Given the description of an element on the screen output the (x, y) to click on. 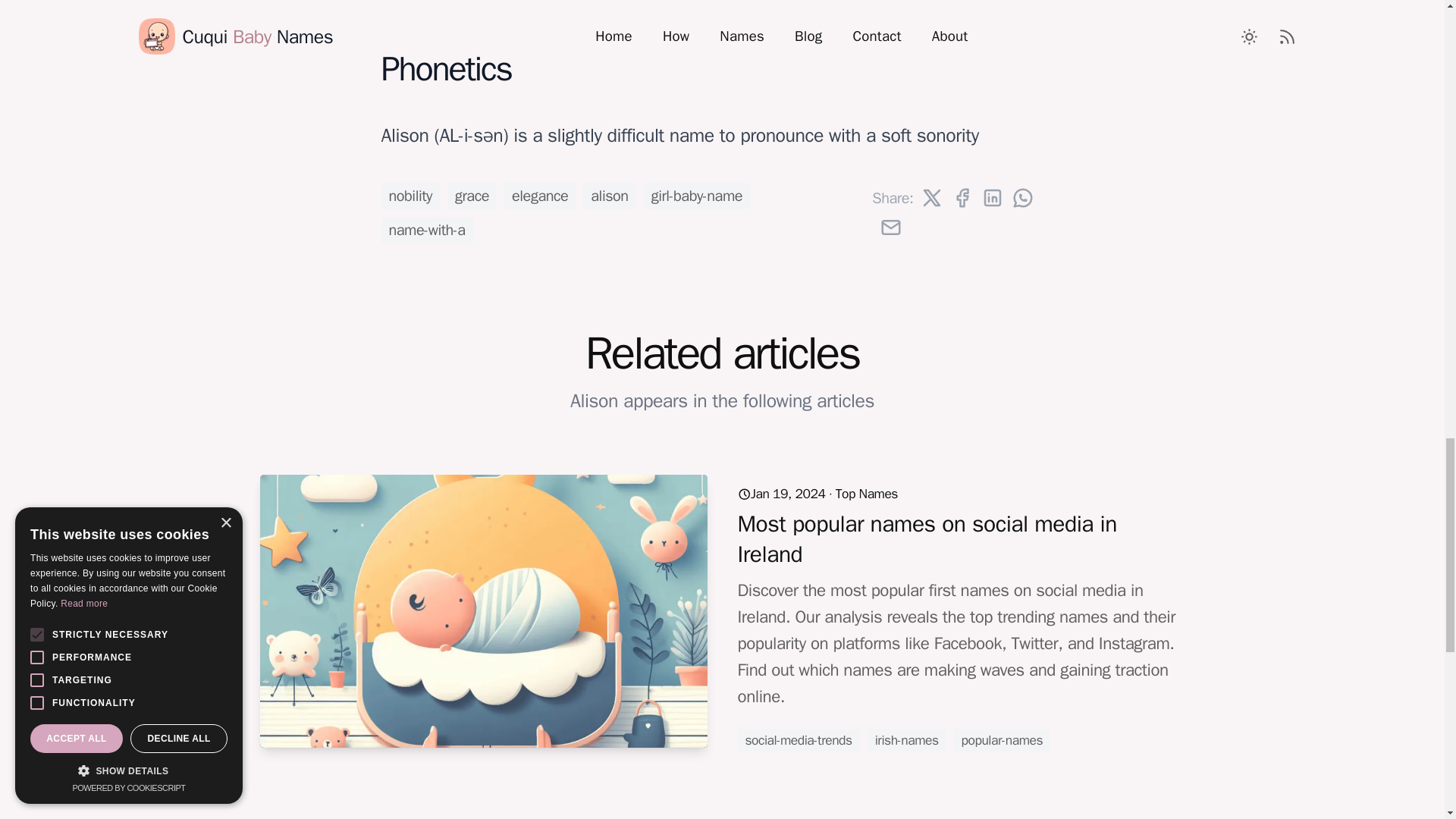
alison (609, 195)
Most popular names on social media in Ireland (926, 538)
nobility (409, 195)
name-with-a (426, 229)
social-media-trends (797, 740)
Linkedin Share (992, 197)
irish-names (907, 740)
Whatsapp Share (1022, 197)
elegance (539, 195)
Twitter Share (931, 197)
